Given the description of an element on the screen output the (x, y) to click on. 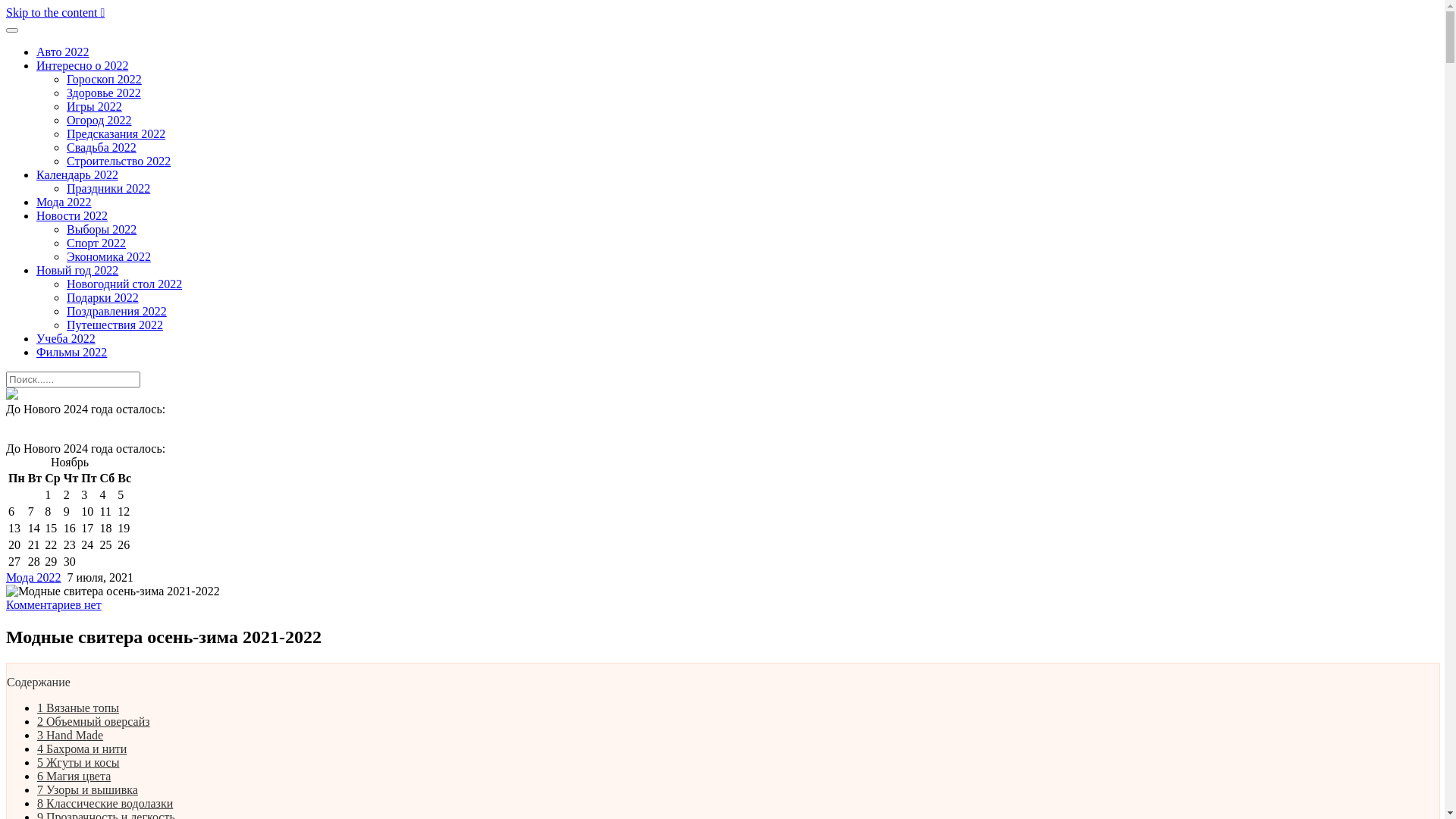
3 Hand Made Element type: text (70, 734)
